Given the description of an element on the screen output the (x, y) to click on. 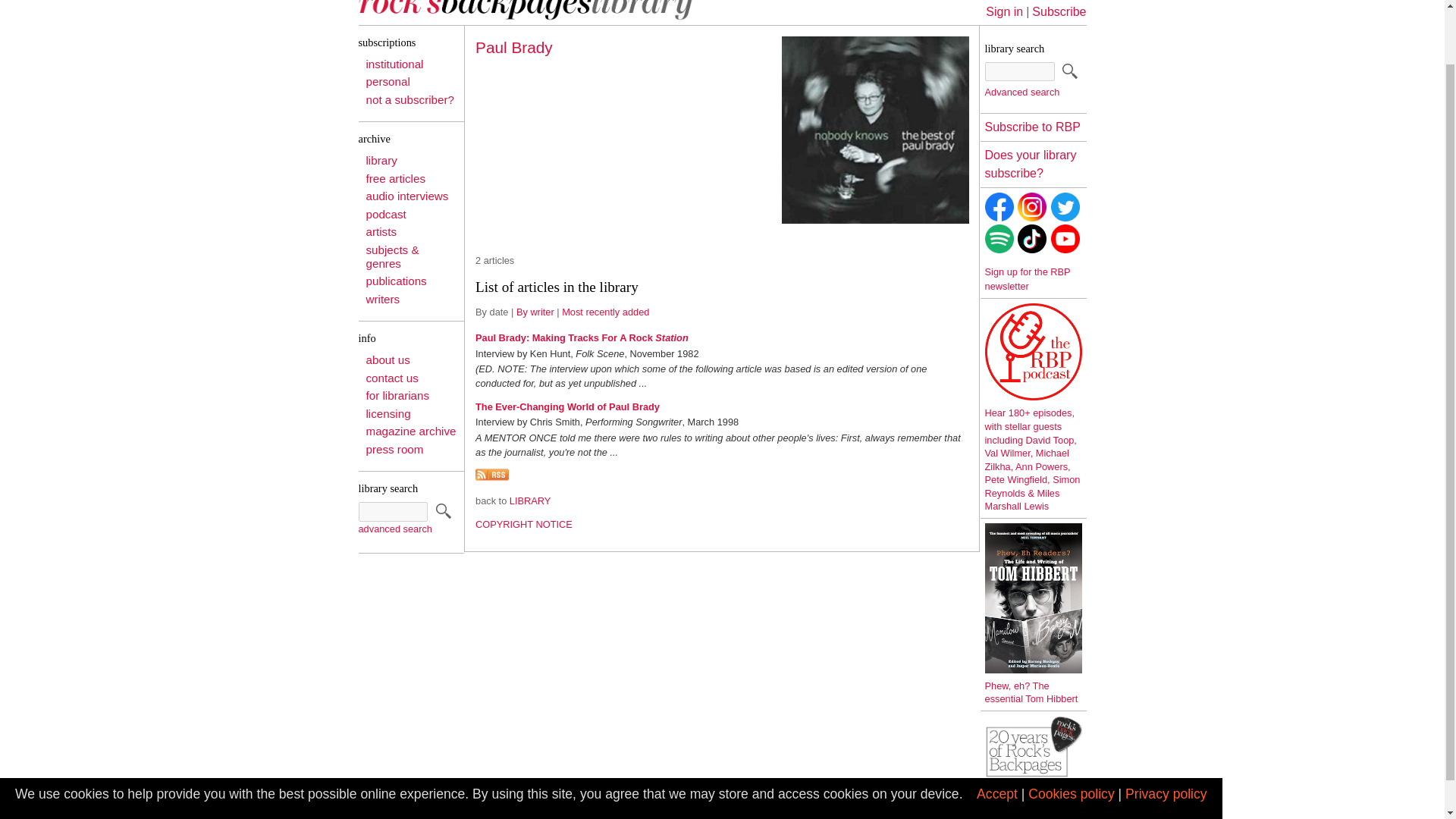
Subscribe (1059, 11)
not a subscriber? (409, 99)
Cookies policy (1070, 732)
library (380, 160)
free articles (395, 178)
personal (387, 81)
Accept (996, 732)
Sign in (1004, 11)
institutional (394, 63)
podcast (385, 214)
audio interviews (406, 195)
Privacy policy (1166, 732)
